Given the description of an element on the screen output the (x, y) to click on. 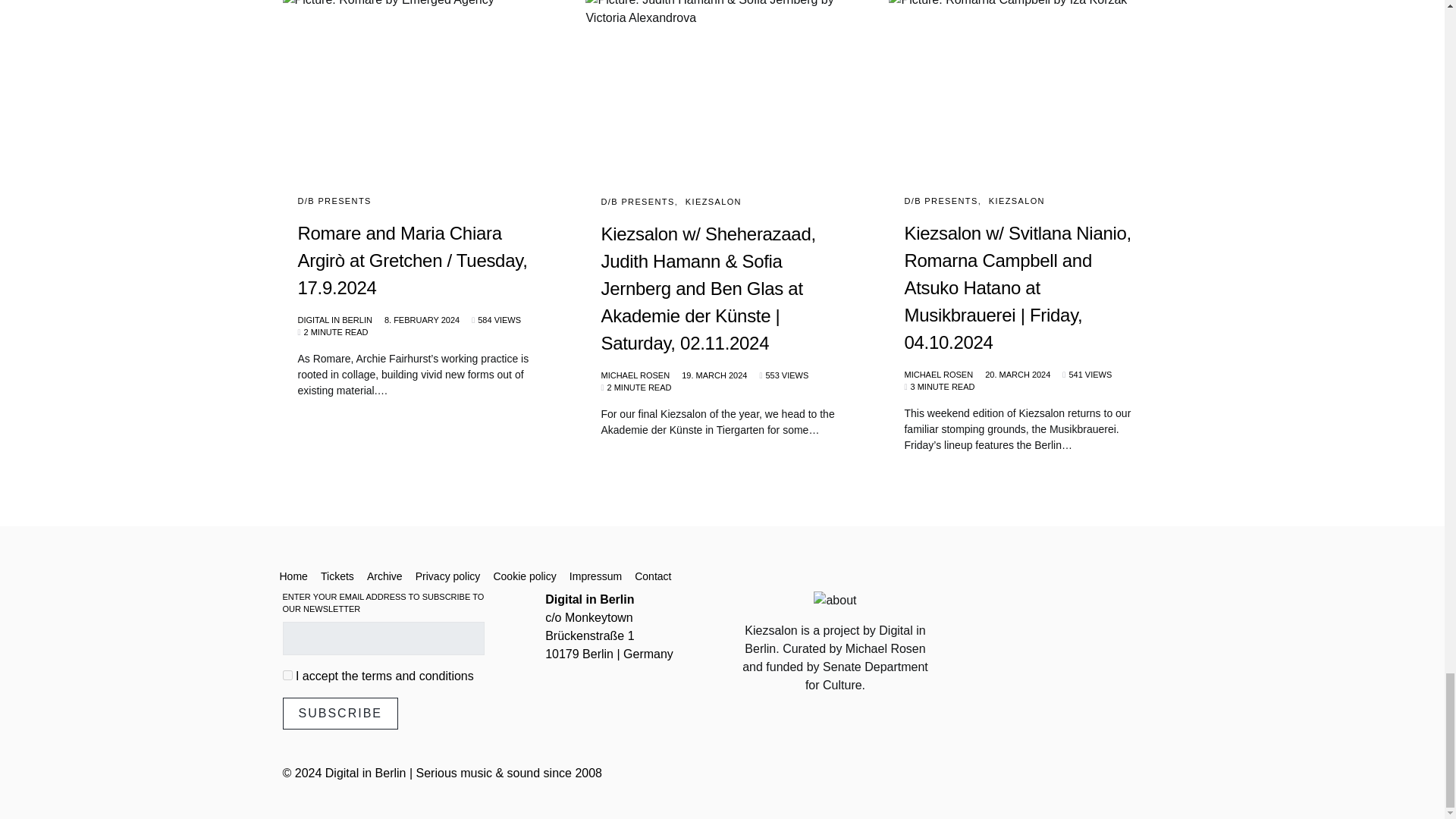
View all posts by Digital in Berlin (334, 319)
Subscribe (339, 713)
on (287, 675)
